Given the description of an element on the screen output the (x, y) to click on. 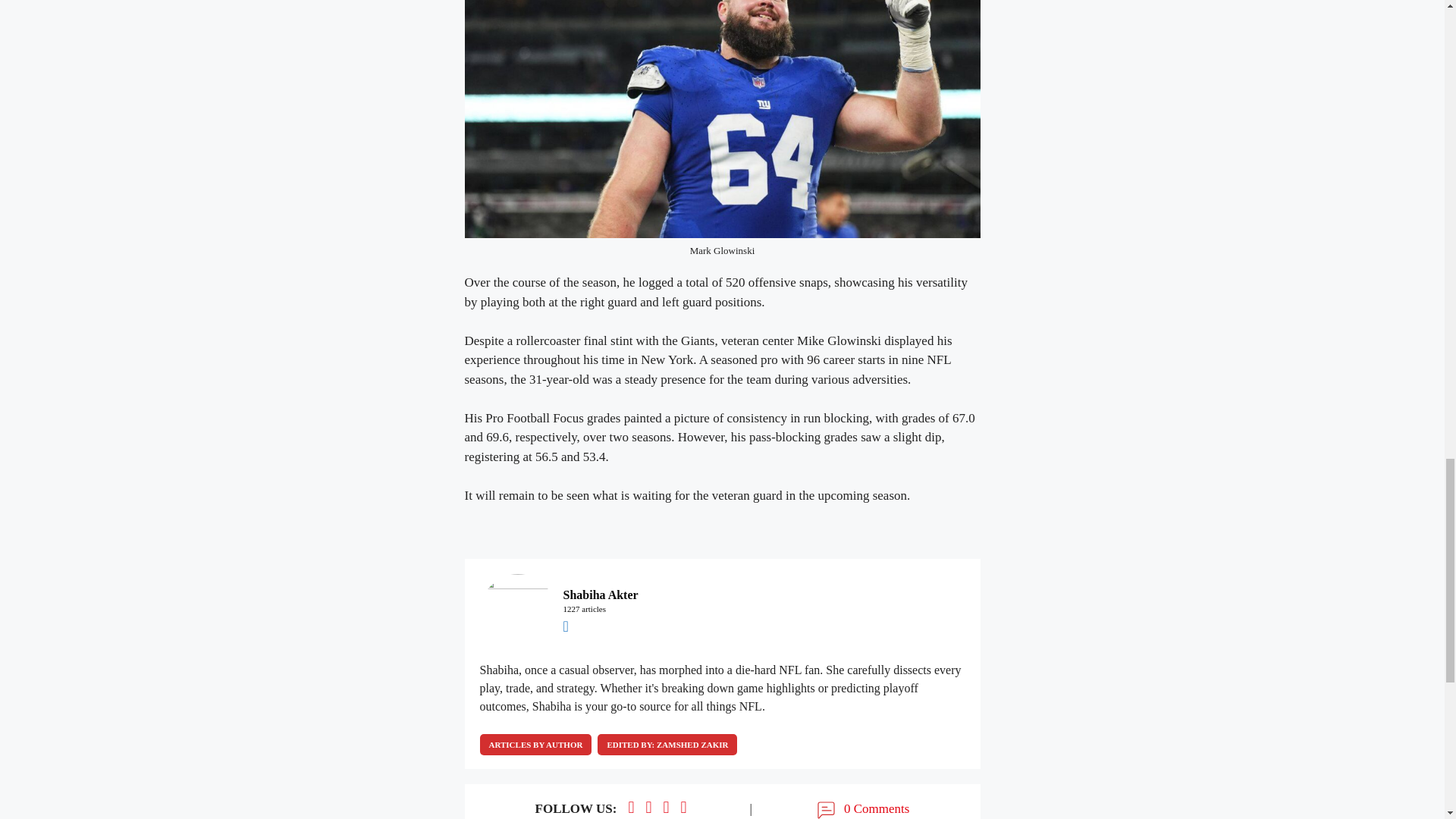
0 Comments (861, 809)
ARTICLES BY AUTHOR (535, 744)
EDITED BY: ZAMSHED ZAKIR (666, 744)
